Given the description of an element on the screen output the (x, y) to click on. 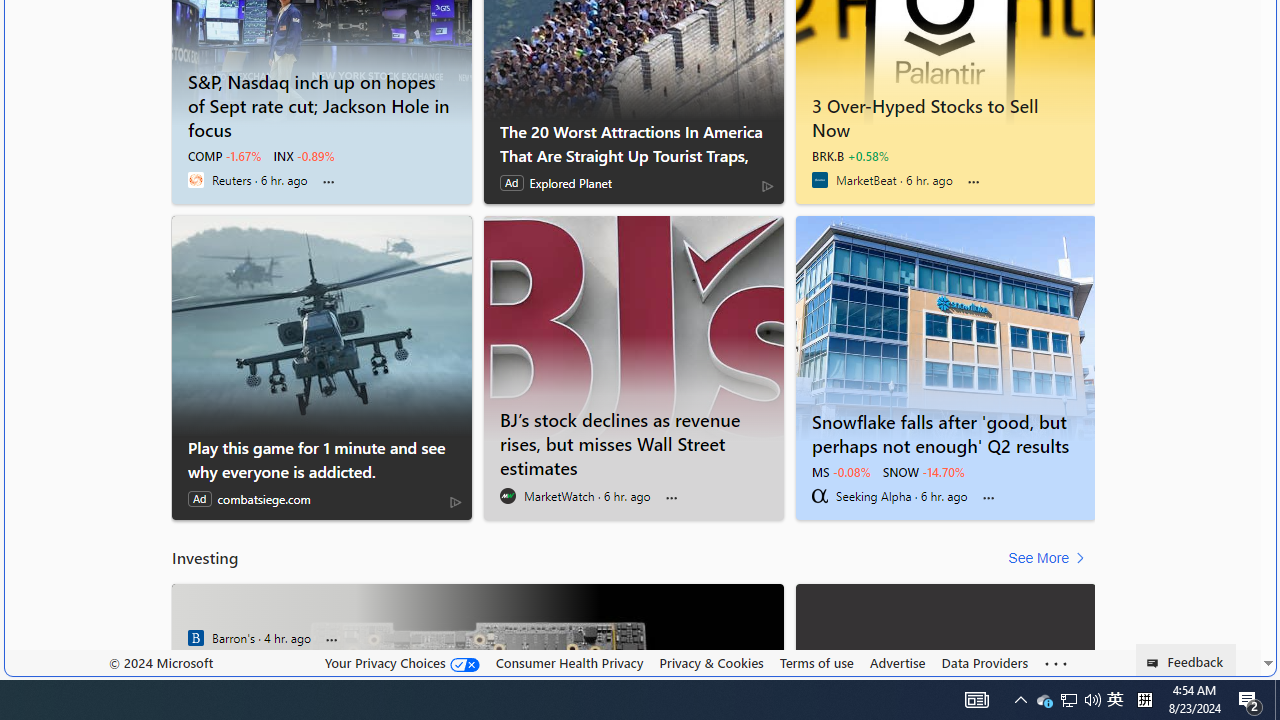
INX -0.89% (303, 156)
Class: oneFooter_seeMore-DS-EntryPoint1-1 (1055, 663)
MarketBeat (819, 179)
AdChoices (456, 501)
Quartz (195, 637)
